Given the description of an element on the screen output the (x, y) to click on. 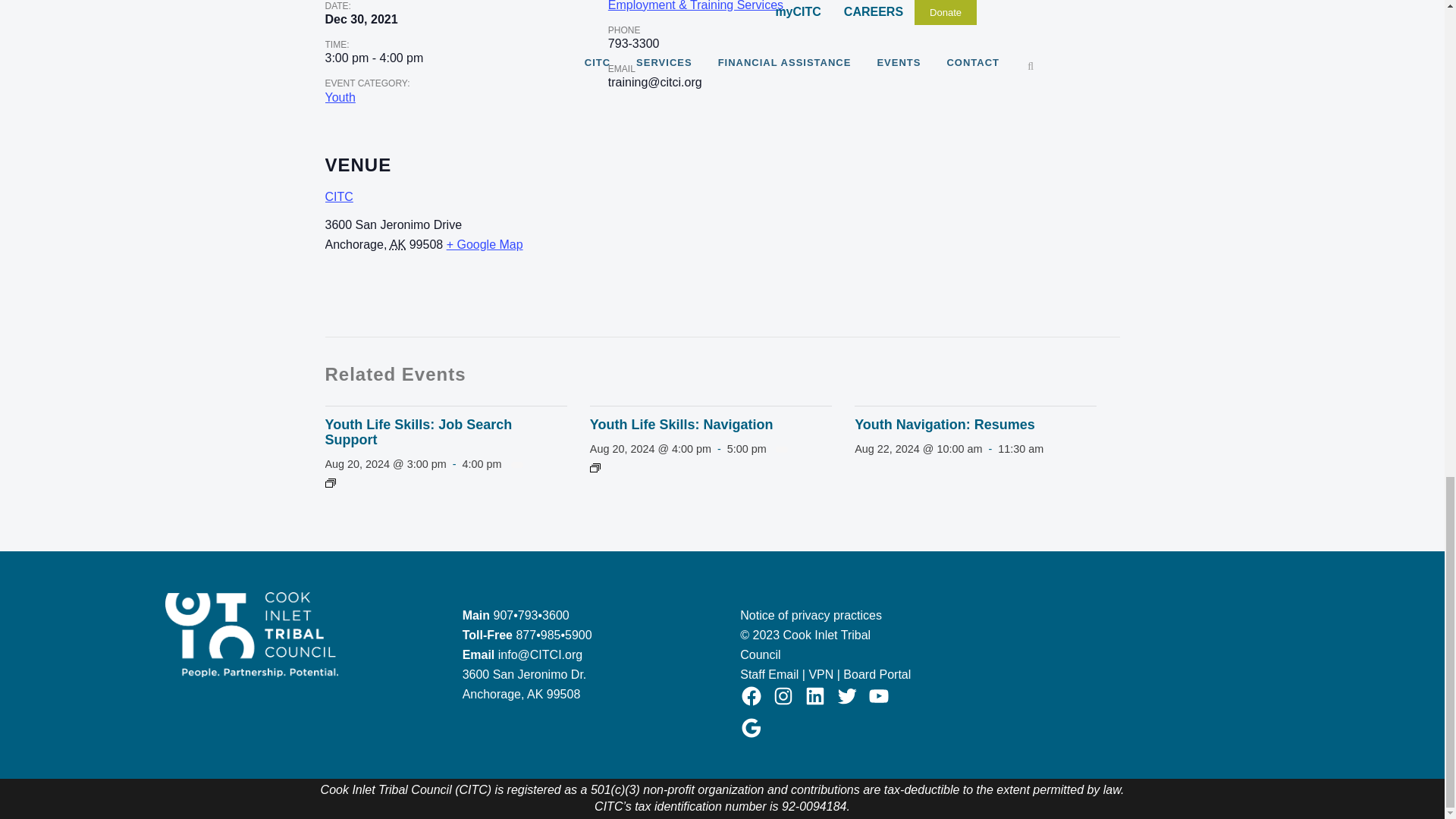
2021-12-30 (373, 58)
Google maps iframe displaying the address to CITC (873, 232)
Click to view a Google Map (484, 244)
2021-12-30 (360, 19)
Alaska (398, 244)
